Given the description of an element on the screen output the (x, y) to click on. 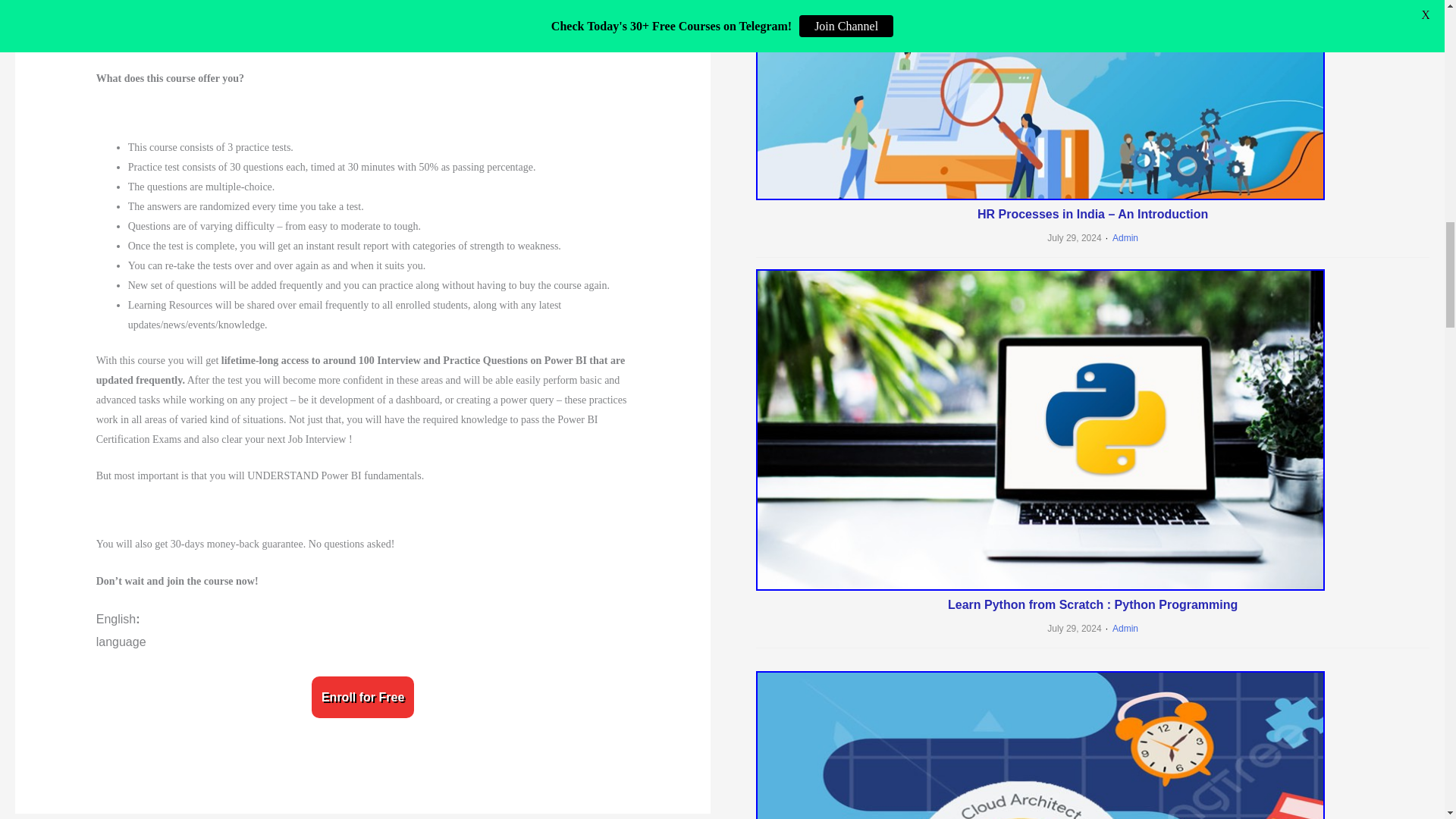
Enroll for Free (362, 697)
Admin (1120, 237)
Learn Python from Scratch : Python Programming (1092, 604)
Admin (1120, 628)
